Given the description of an element on the screen output the (x, y) to click on. 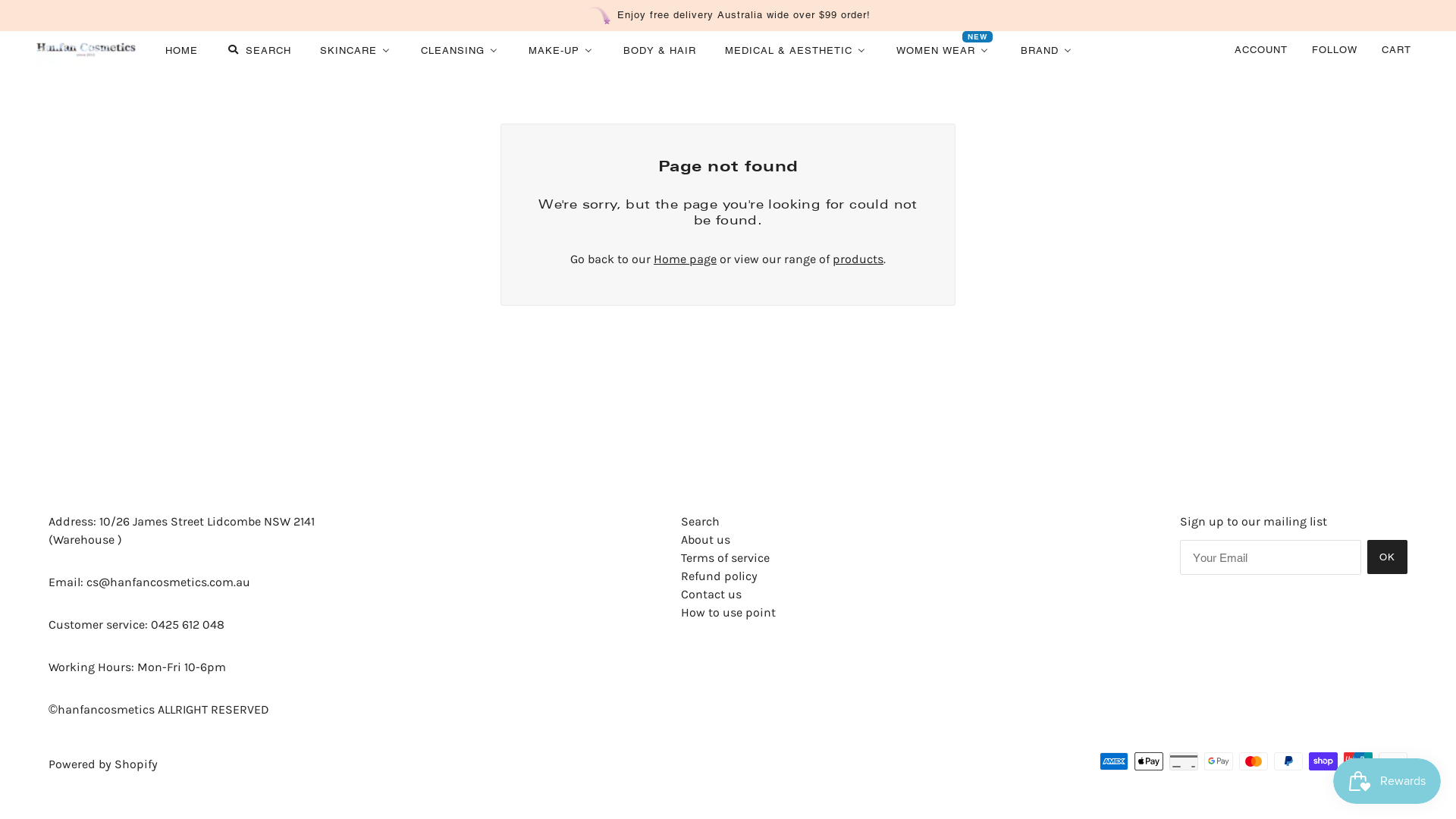
About us Element type: text (705, 539)
MEDICAL & AESTHETIC Element type: text (795, 50)
CART  Element type: text (1398, 50)
HOME Element type: text (180, 50)
Powered by Shopify Element type: text (102, 763)
Smile.io Rewards Program Launcher Element type: hover (1386, 780)
How to use point Element type: text (727, 612)
Terms of service Element type: text (724, 557)
Contact us Element type: text (710, 593)
SEARCH Element type: text (257, 50)
FOLLOW Element type: text (1334, 50)
OK Element type: text (1387, 556)
hanfancosmetics Australia Element type: hover (85, 50)
WOMEN WEAR
NEW Element type: text (943, 50)
ACCOUNT Element type: text (1260, 50)
MAKE-UP Element type: text (560, 50)
SKINCARE Element type: text (354, 50)
Search Element type: text (699, 521)
BODY & HAIR Element type: text (658, 50)
Home page Element type: text (684, 258)
BRAND Element type: text (1046, 50)
CLEANSING Element type: text (459, 50)
Refund policy Element type: text (718, 575)
products Element type: text (857, 258)
